Given the description of an element on the screen output the (x, y) to click on. 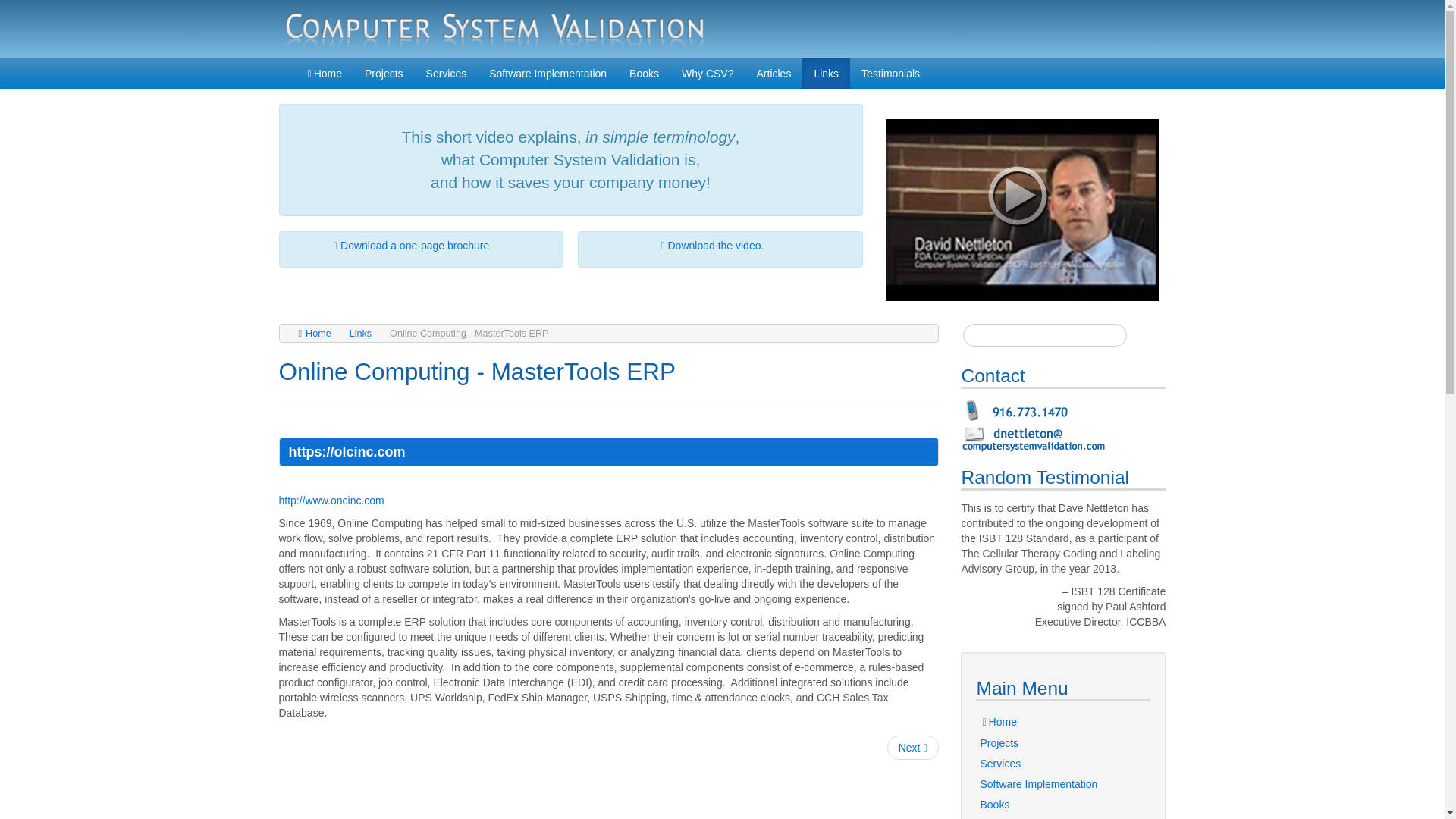
Testimonials (890, 73)
Download a one-page brochure (414, 245)
Links (826, 73)
contact email and phone (1036, 425)
Projects (1062, 742)
Services (1062, 763)
Software Implementation (547, 73)
Links (360, 333)
Books (643, 73)
Projects (383, 73)
Why CSV? (1062, 817)
Services (446, 73)
Home (1062, 722)
Next (912, 747)
Home (323, 73)
